Given the description of an element on the screen output the (x, y) to click on. 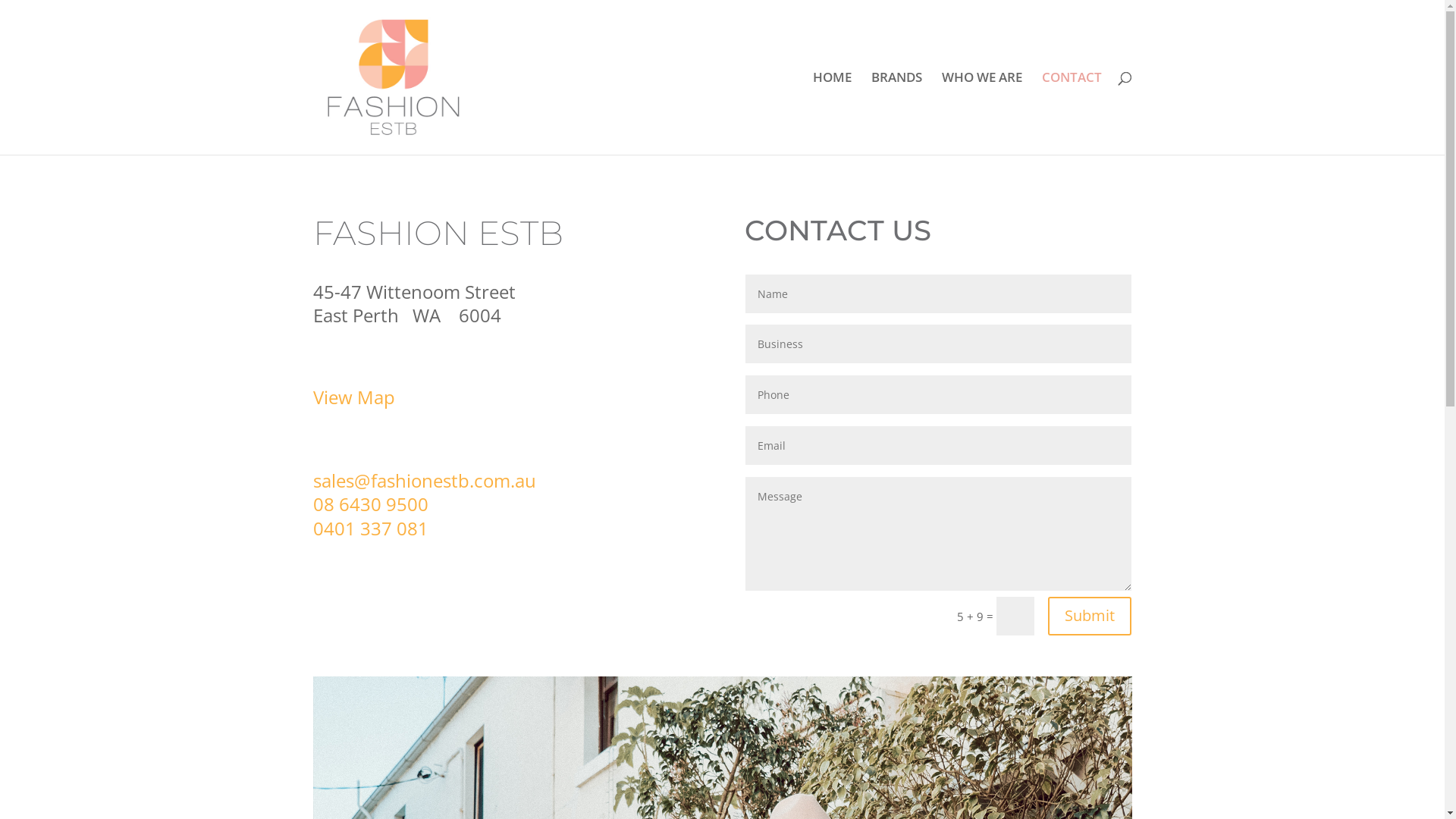
Submit Element type: text (1089, 615)
WHO WE ARE Element type: text (981, 113)
CONTACT Element type: text (1071, 113)
08 6430 9500 Element type: text (369, 503)
HOME Element type: text (831, 113)
BRANDS Element type: text (895, 113)
0401 337 081 Element type: text (369, 527)
sales@fashionestb.com.au Element type: text (423, 479)
View Map Element type: text (353, 396)
